Given the description of an element on the screen output the (x, y) to click on. 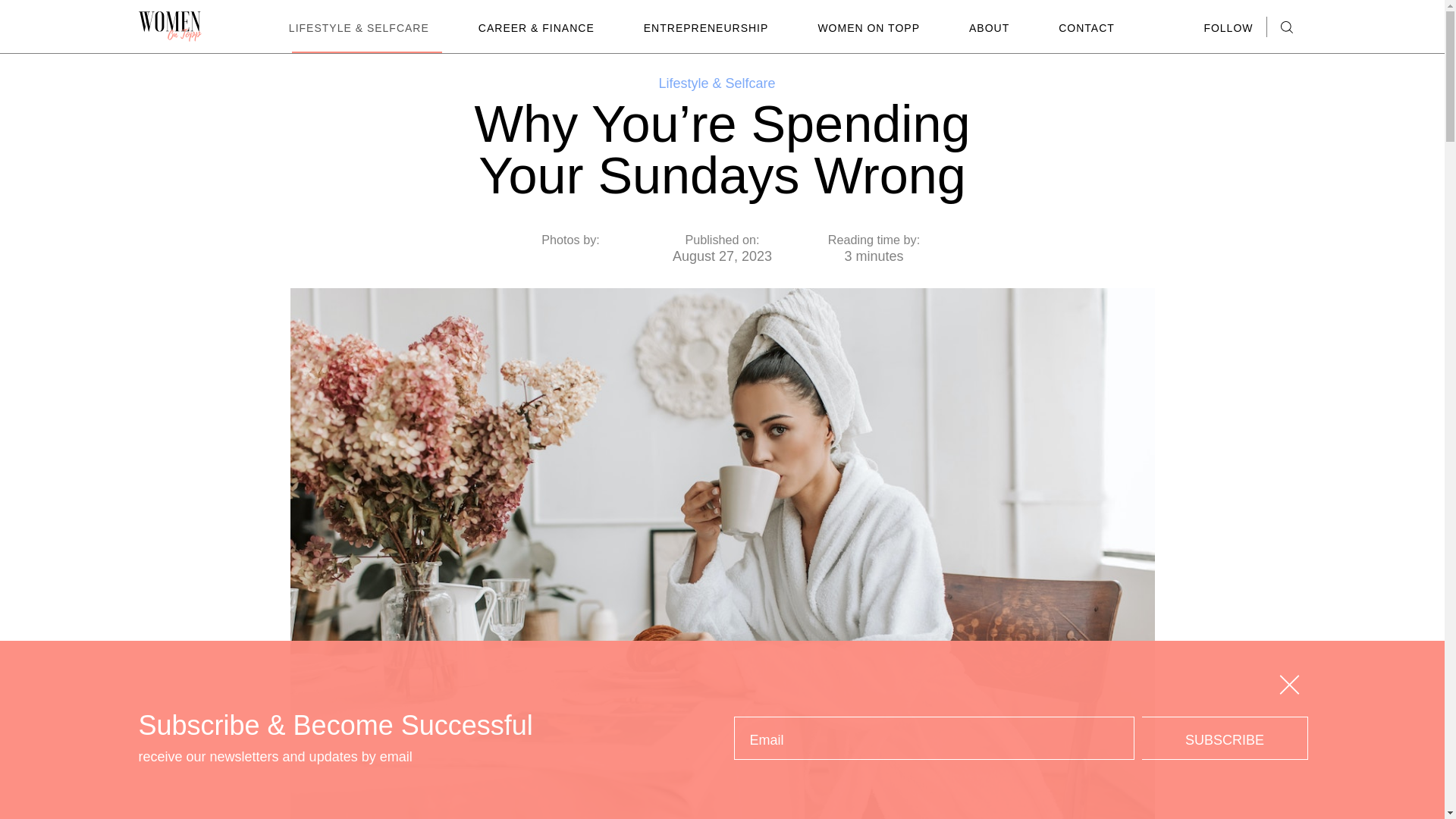
Women On Topp (868, 28)
About (989, 28)
WOMEN ON TOPP (868, 28)
FOLLOW (1227, 29)
CONTACT (1085, 28)
Contact (1085, 28)
ENTREPRENEURSHIP (705, 28)
ABOUT (989, 28)
Subscribe (1224, 738)
Entrepreneurship (705, 28)
